Given the description of an element on the screen output the (x, y) to click on. 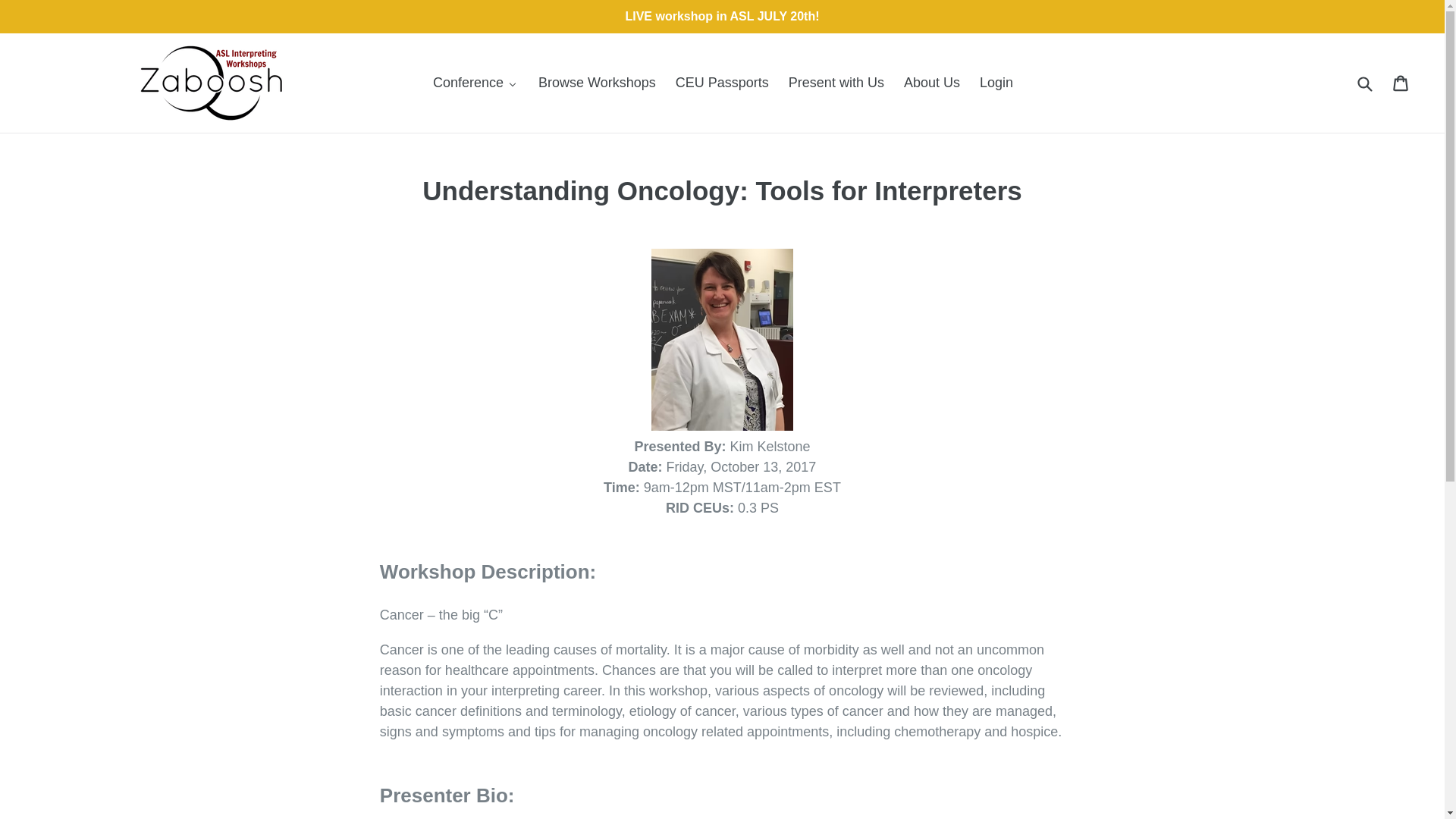
Browse Workshops (596, 83)
Login (995, 83)
CEU Passports (721, 83)
Conference (474, 83)
Present with Us (835, 83)
About Us (931, 83)
